Given the description of an element on the screen output the (x, y) to click on. 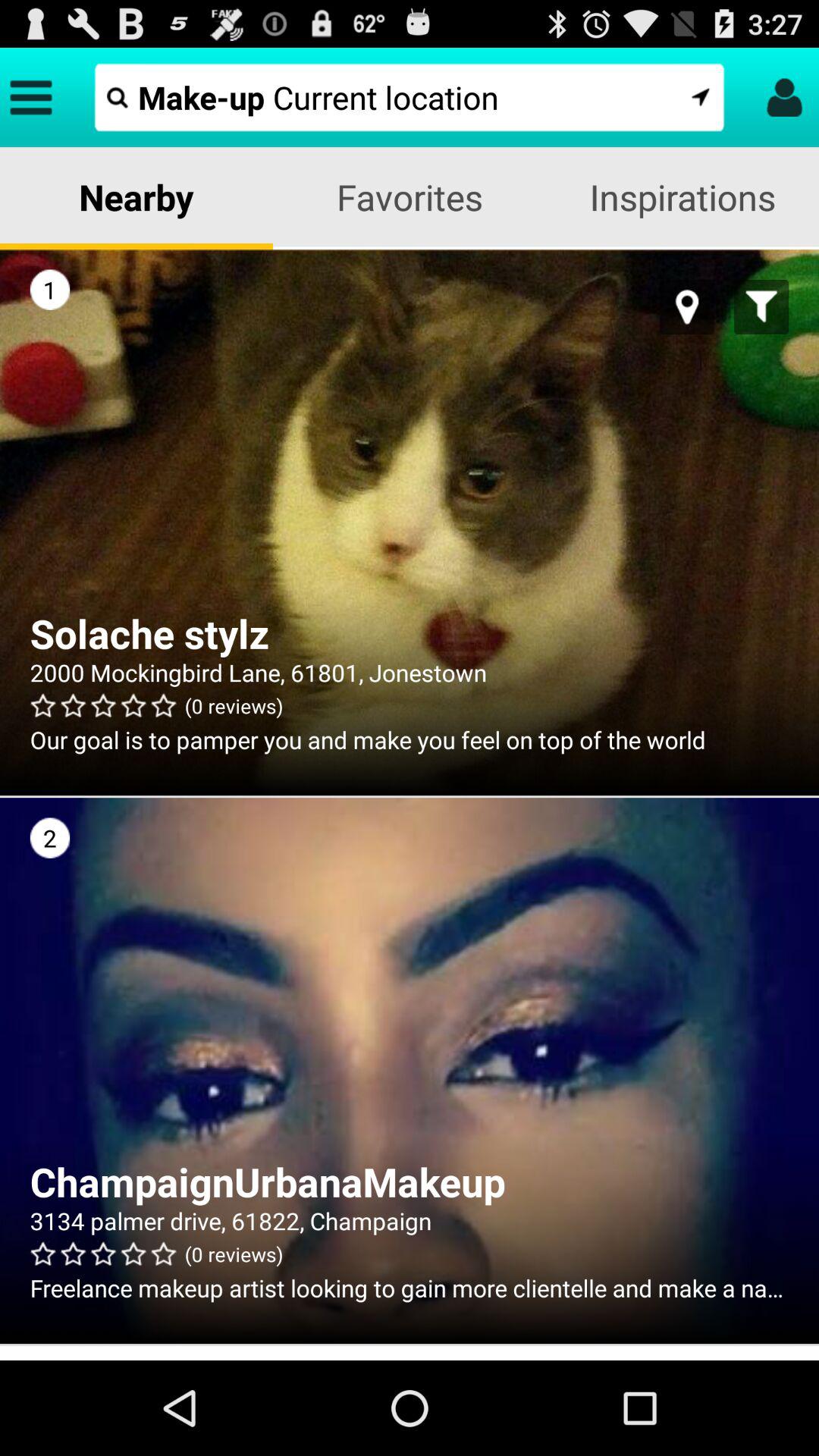
tap icon above the (0 reviews) item (409, 672)
